Given the description of an element on the screen output the (x, y) to click on. 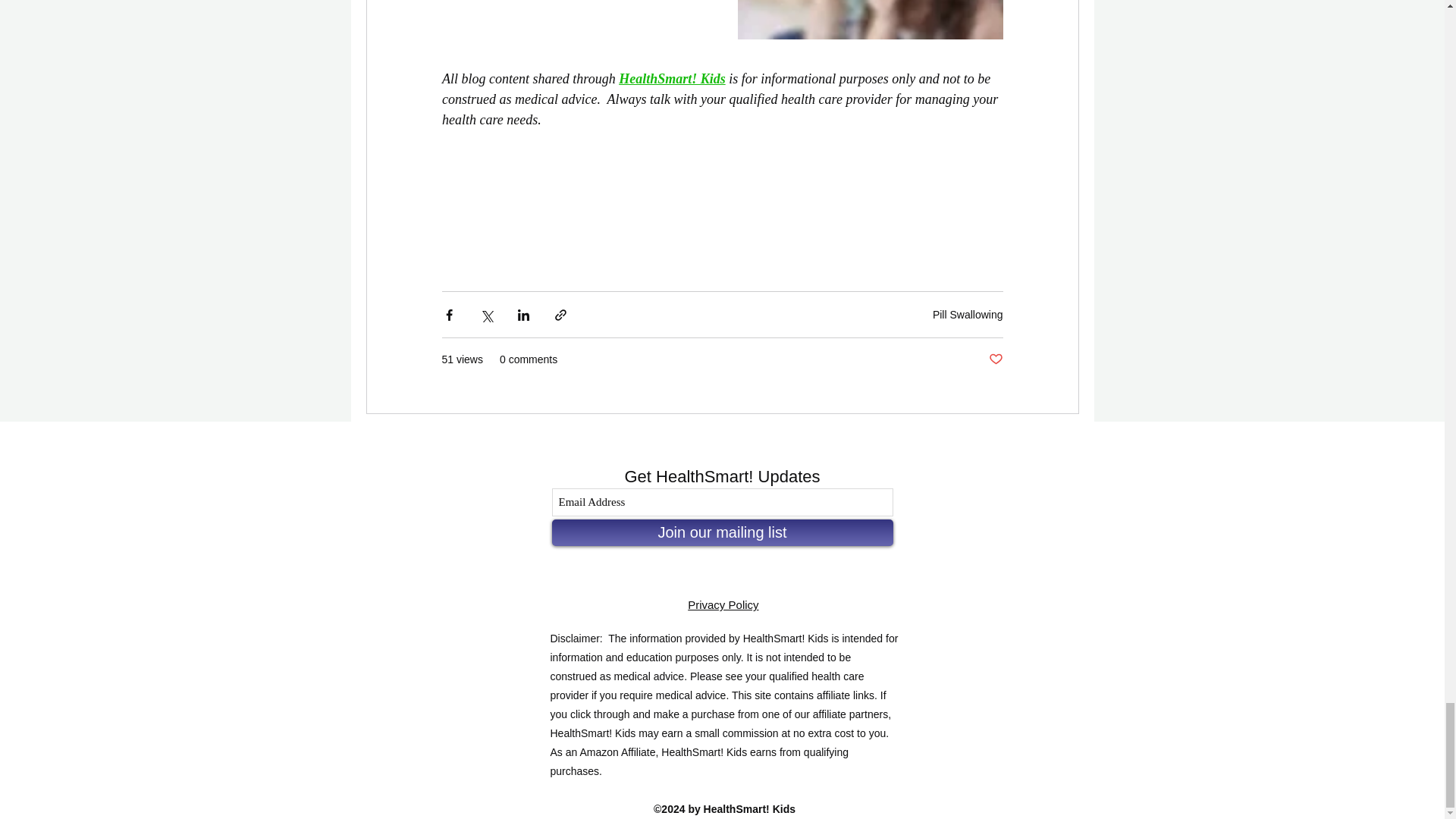
Join our mailing list (722, 532)
Pill Swallowing (968, 314)
Post not marked as liked (995, 359)
HealthSmart! Kids (671, 78)
Privacy Policy (722, 604)
